Given the description of an element on the screen output the (x, y) to click on. 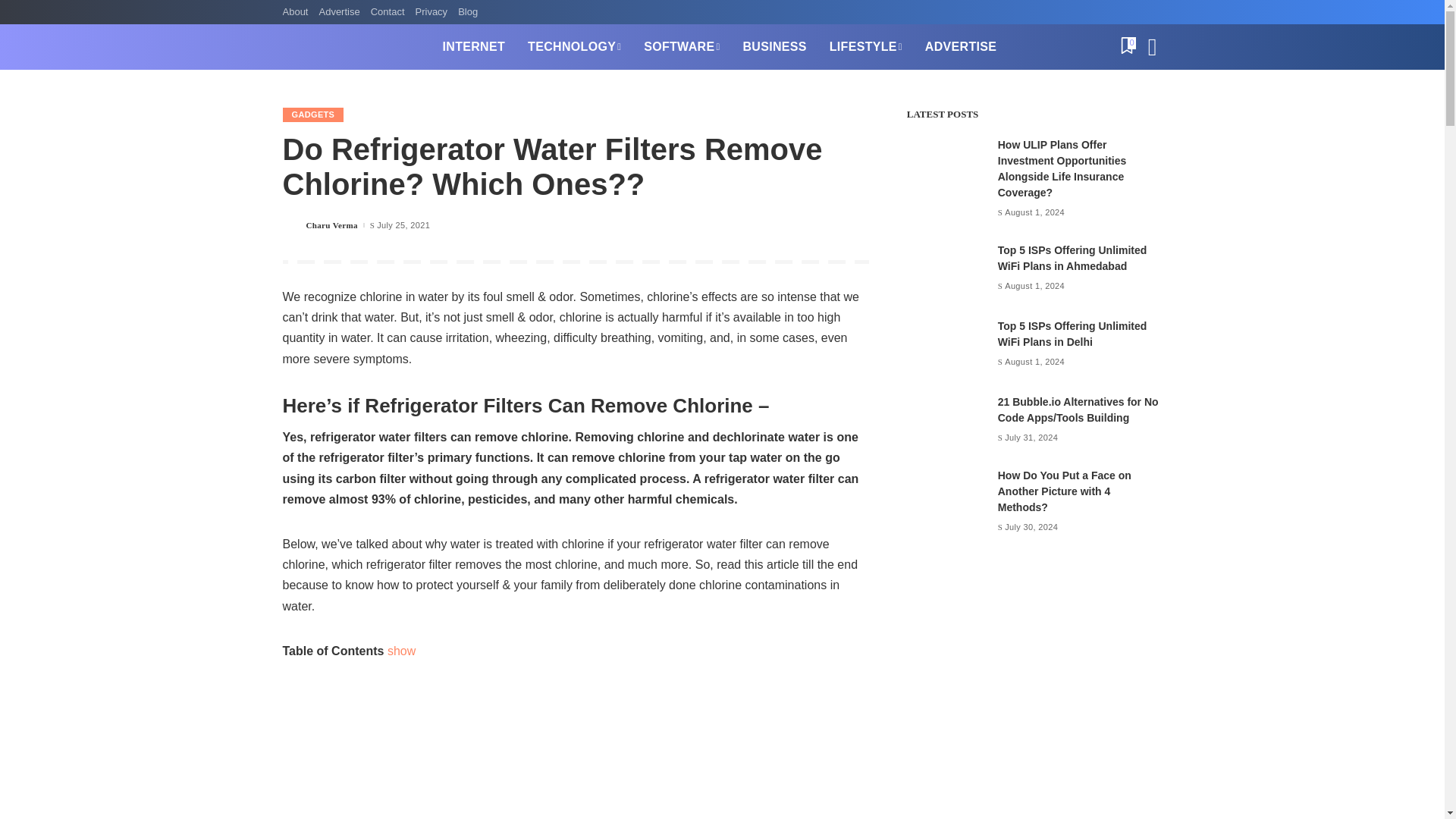
Advertise (339, 11)
Supportive Guru (350, 46)
TECHNOLOGY (573, 46)
LIFESTYLE (866, 46)
INTERNET (473, 46)
Privacy (430, 11)
SOFTWARE (680, 46)
Blog (467, 11)
About (297, 11)
Contact (387, 11)
BUSINESS (773, 46)
